Given the description of an element on the screen output the (x, y) to click on. 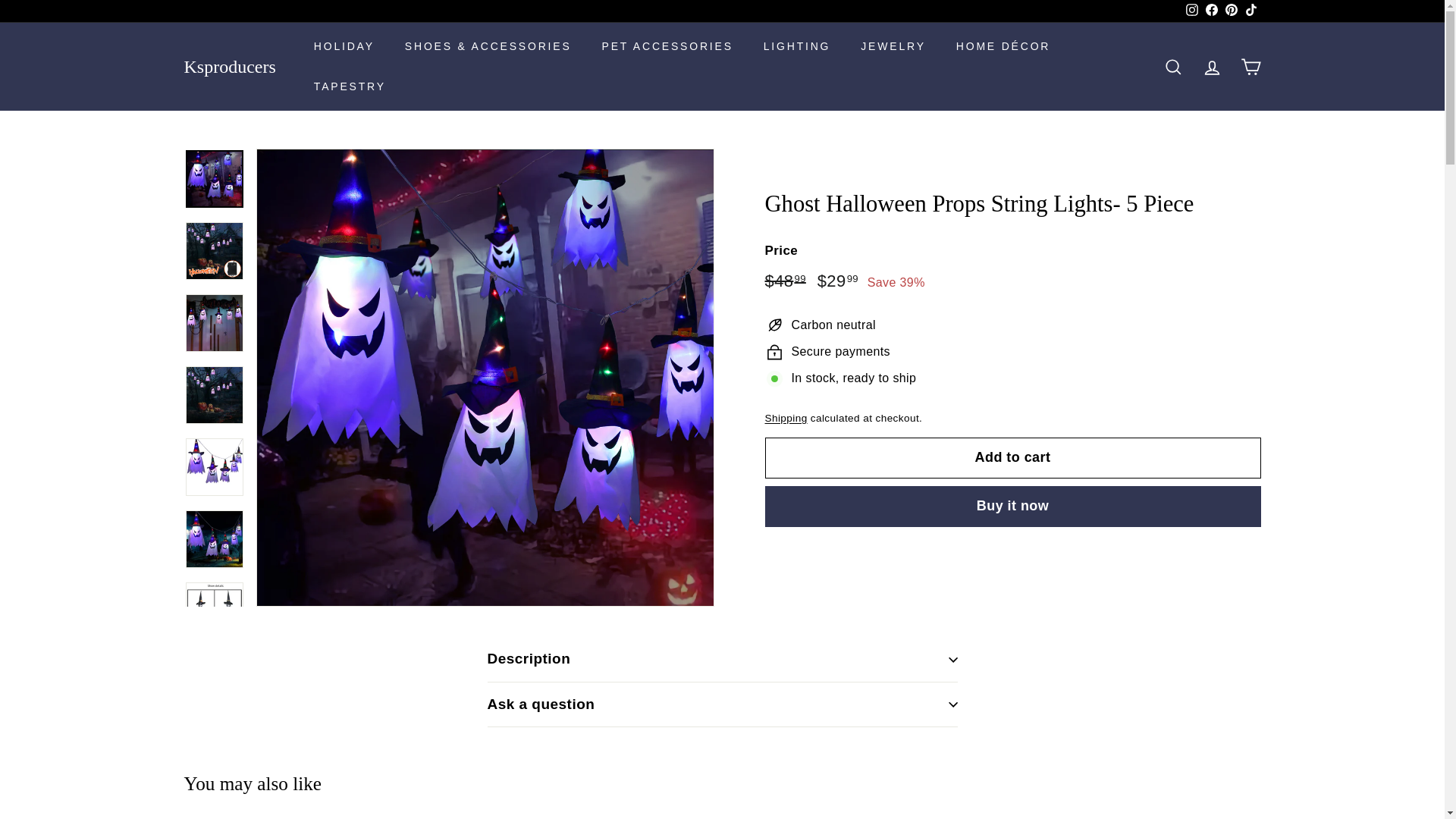
JEWELRY (892, 46)
HOLIDAY (344, 46)
LIGHTING (796, 46)
TAPESTRY (349, 86)
PET ACCESSORIES (667, 46)
Ksproducers (229, 66)
